Given the description of an element on the screen output the (x, y) to click on. 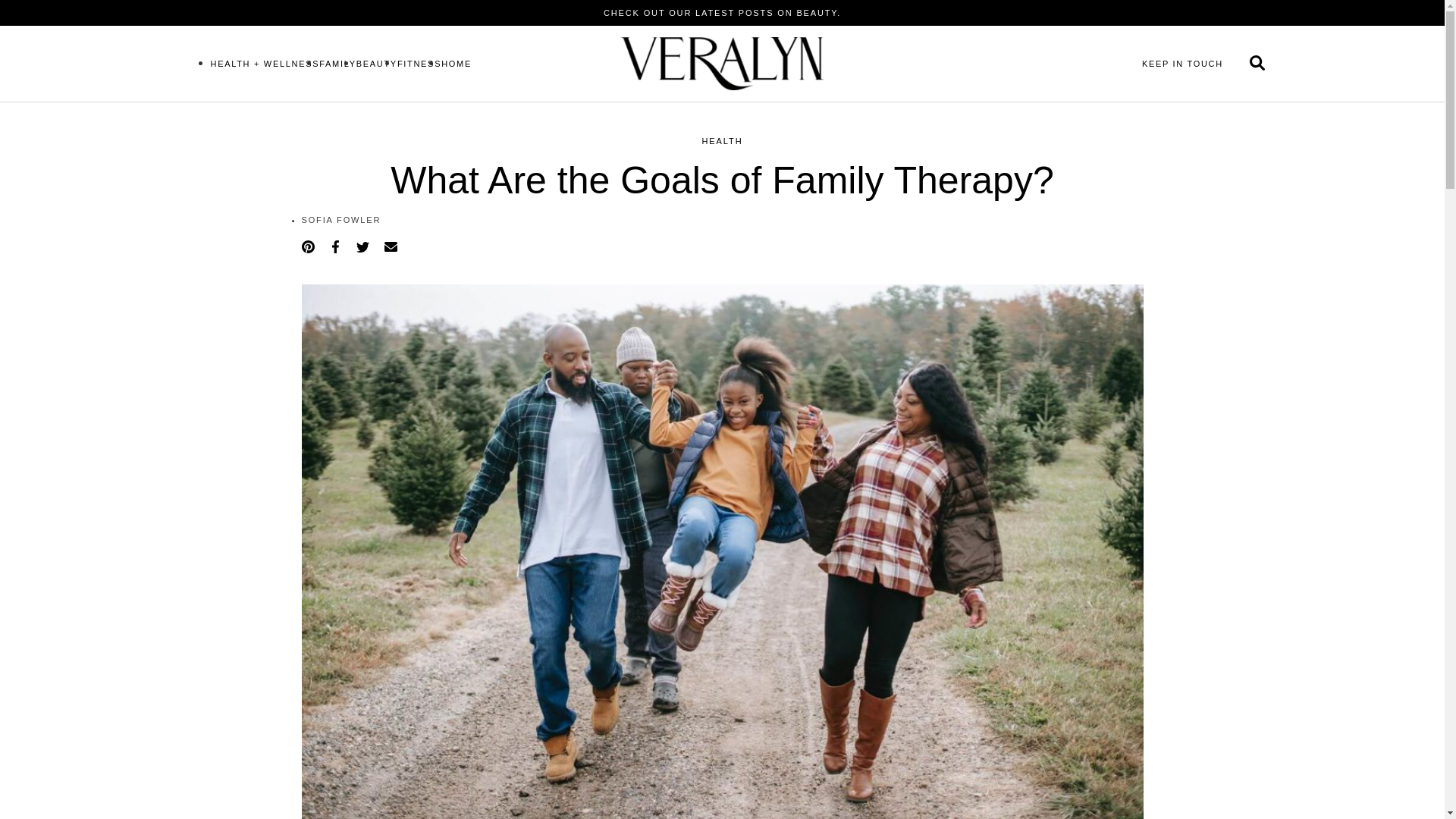
HEALTH (721, 140)
FAMILY (336, 62)
HOME (456, 62)
SOFIA FOWLER (341, 219)
BEAUTY (376, 62)
FITNESS (419, 62)
